Given the description of an element on the screen output the (x, y) to click on. 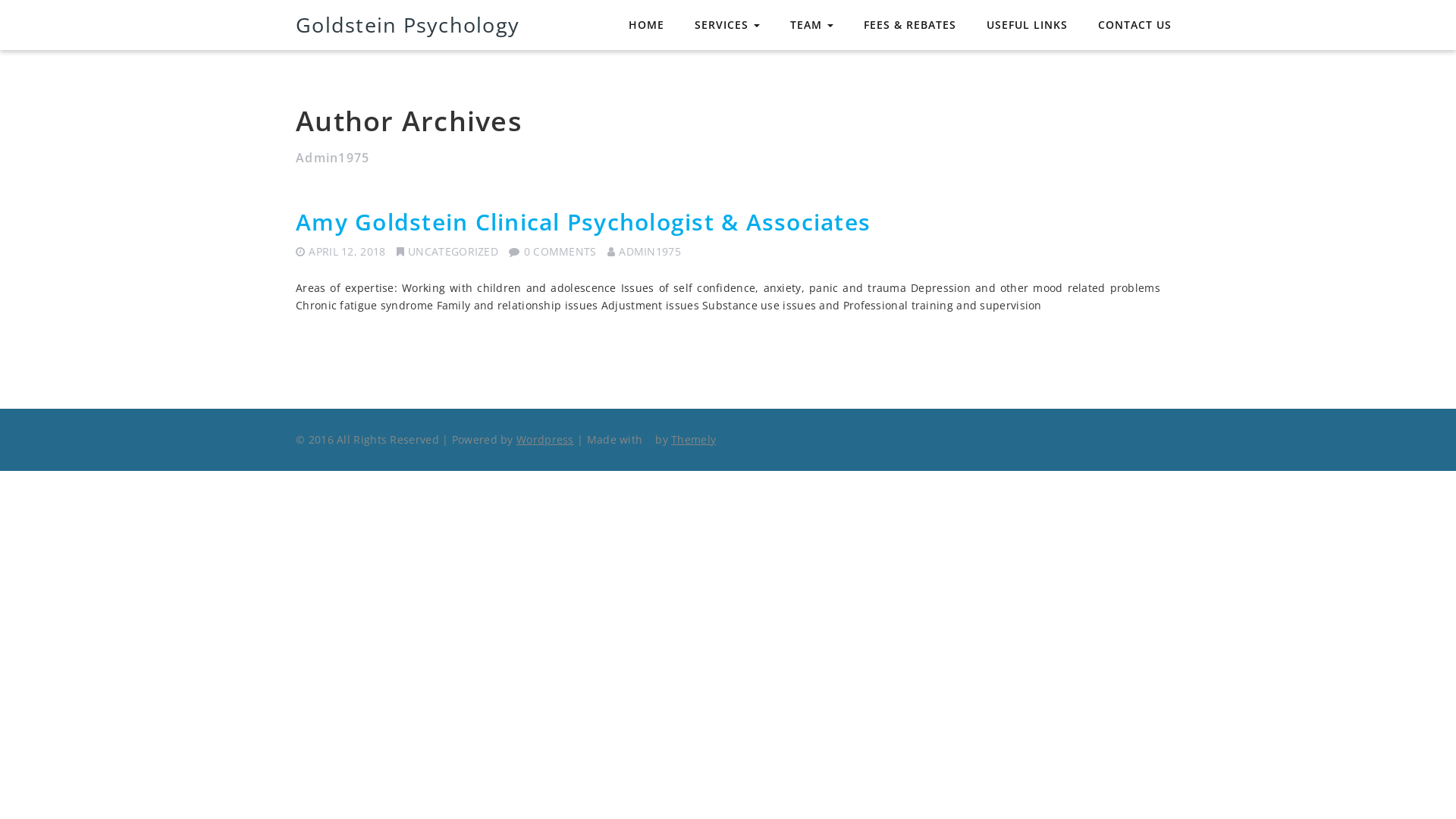
HOME Element type: text (646, 25)
Amy Goldstein Clinical Psychologist & Associates Element type: text (582, 221)
Themely Element type: text (693, 439)
SERVICES Element type: text (726, 24)
TEAM Element type: text (811, 24)
FEES & REBATES Element type: text (909, 25)
UNCATEGORIZED Element type: text (452, 251)
USEFUL LINKS Element type: text (1026, 25)
Goldstein Psychology Element type: text (407, 24)
CONTACT US Element type: text (1134, 25)
ADMIN1975 Element type: text (649, 251)
Wordpress Element type: text (545, 439)
